Given the description of an element on the screen output the (x, y) to click on. 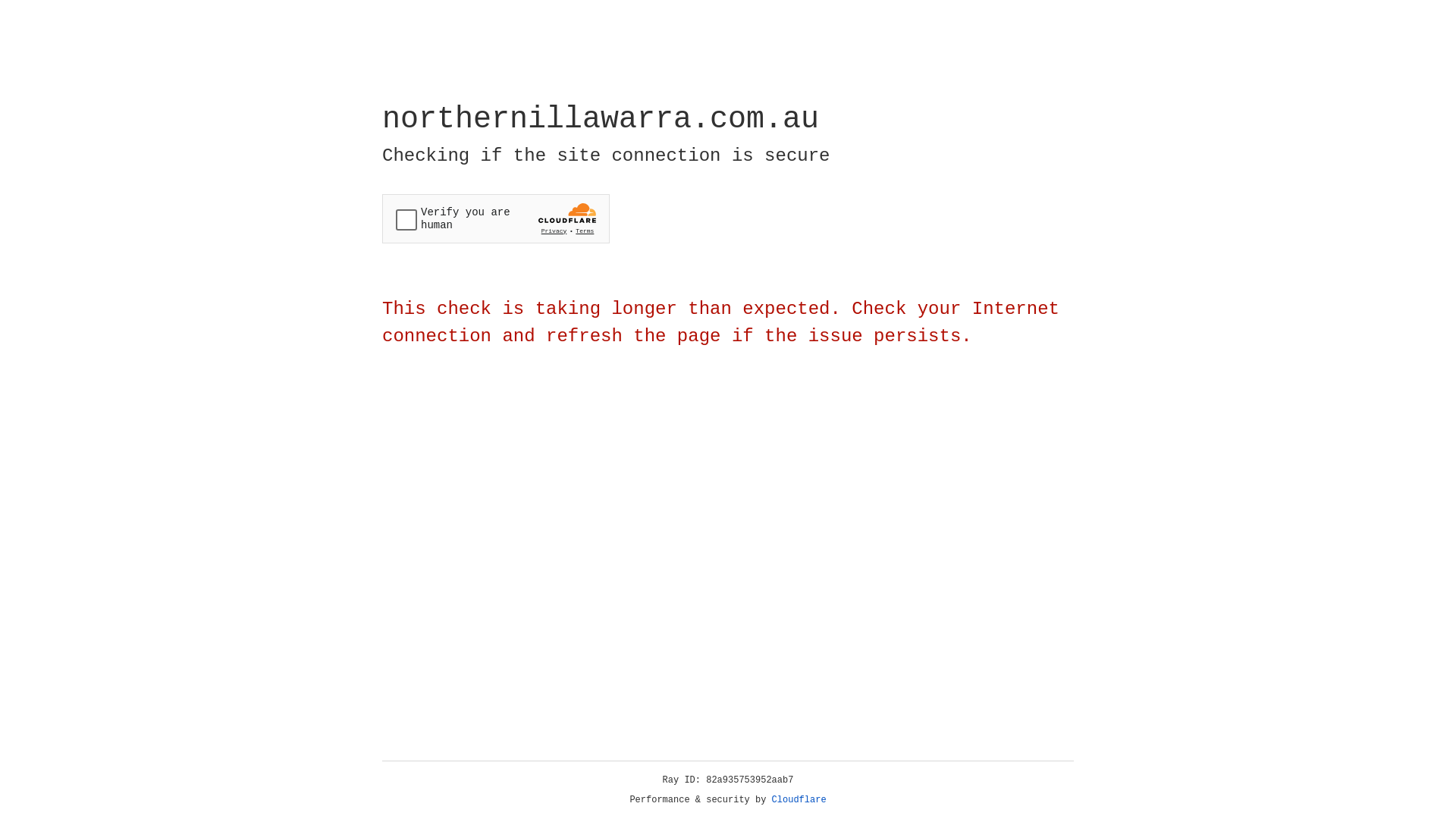
Widget containing a Cloudflare security challenge Element type: hover (495, 218)
Cloudflare Element type: text (798, 799)
